Given the description of an element on the screen output the (x, y) to click on. 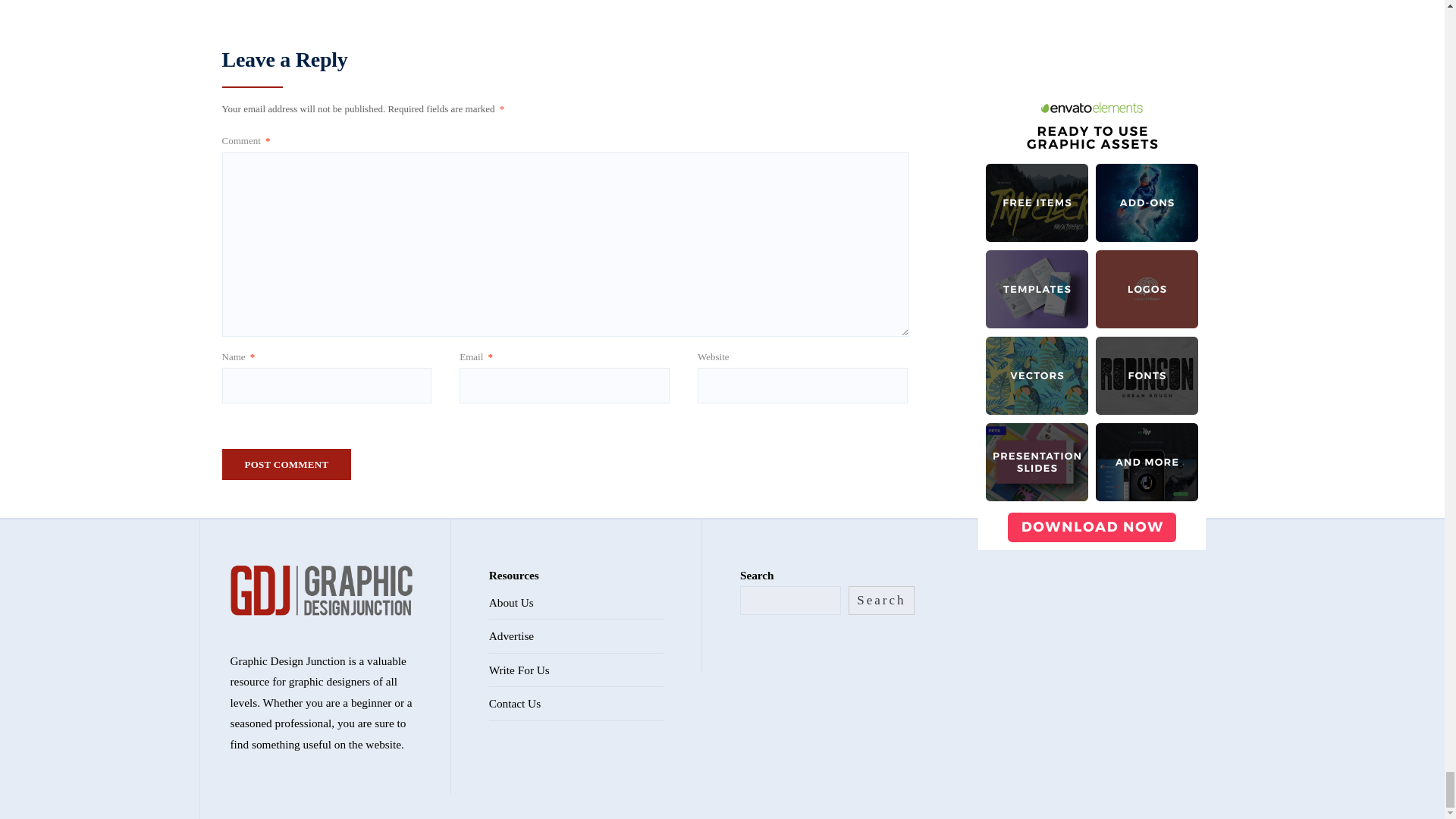
Post Comment (285, 464)
